Given the description of an element on the screen output the (x, y) to click on. 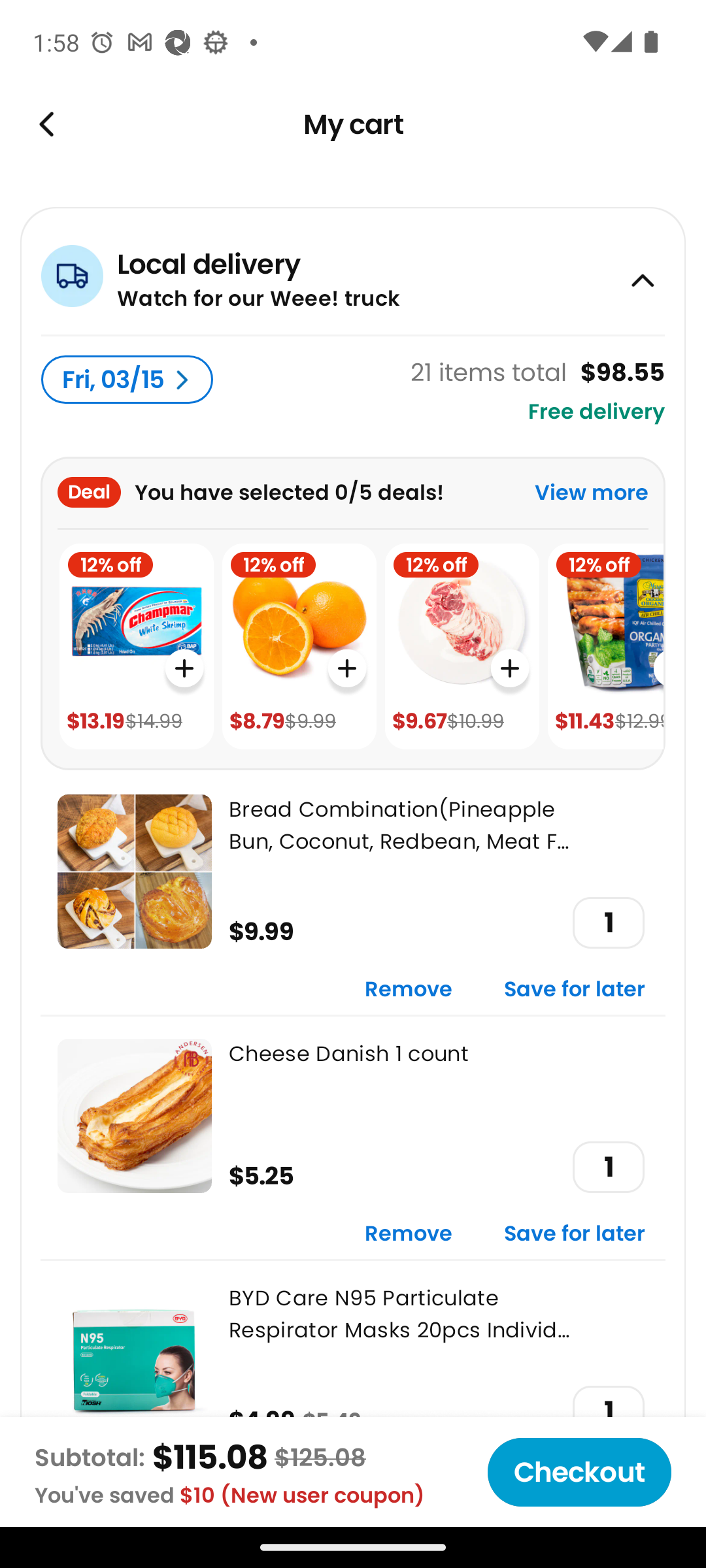
Local delivery Watch for our Weee! truck (352, 269)
Fri, 03/15 (126, 379)
12% off $13.19 $14.99 (136, 646)
12% off $8.79 $9.99 (299, 646)
12% off $9.67 $10.99 (461, 646)
12% off $11.43 $12.99 (605, 646)
1 (608, 922)
Remove (408, 989)
Save for later (574, 989)
1 (608, 1167)
Remove (408, 1234)
Save for later (574, 1234)
Checkout (579, 1471)
